Given the description of an element on the screen output the (x, y) to click on. 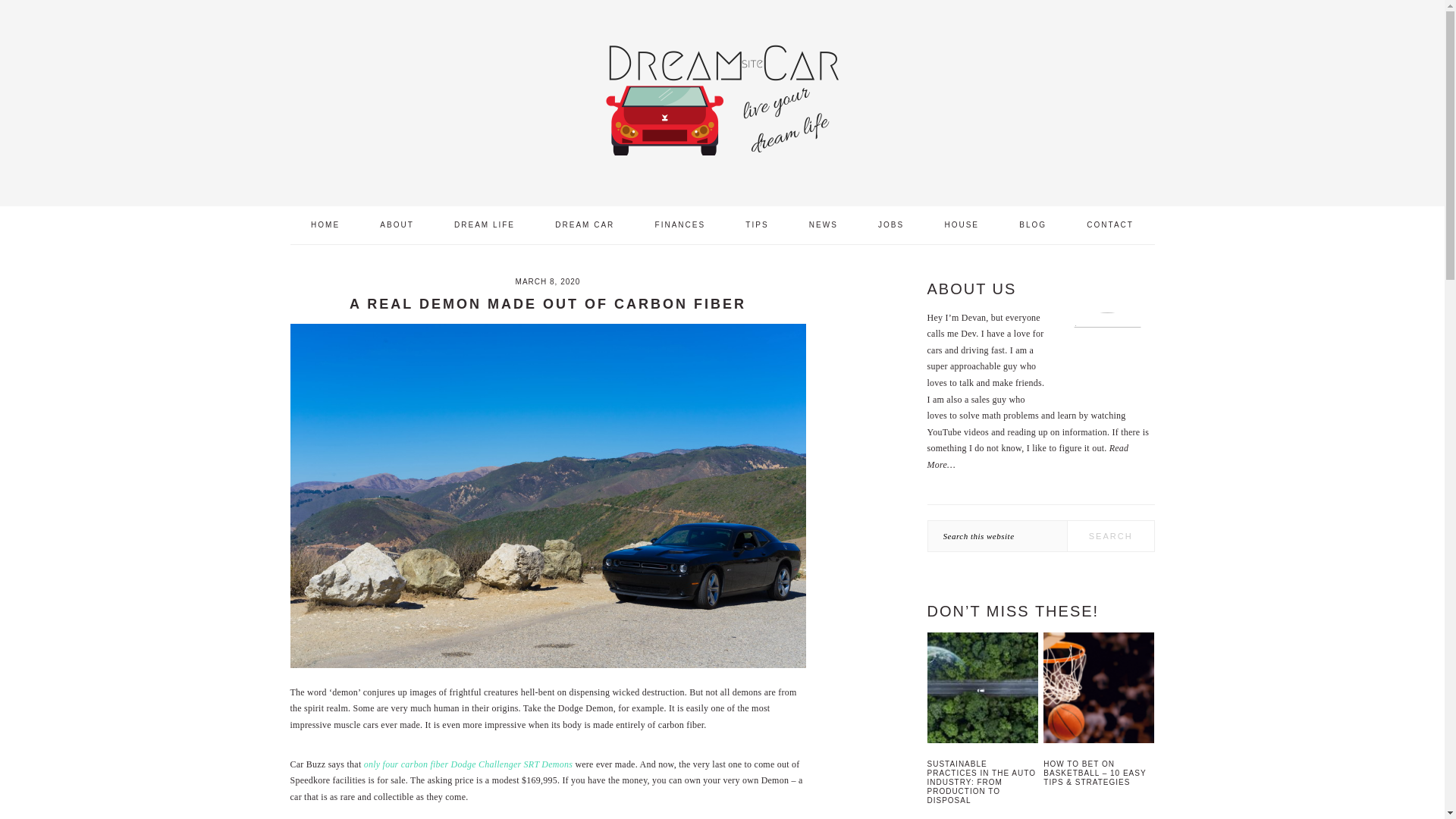
only four carbon fiber Dodge Challenger SRT Demons (468, 764)
Search (1110, 536)
DREAM CAR SITE (721, 98)
FINANCES (680, 225)
DREAM CAR (584, 225)
HOUSE (960, 225)
CONTACT (1110, 225)
TIPS (756, 225)
